Given the description of an element on the screen output the (x, y) to click on. 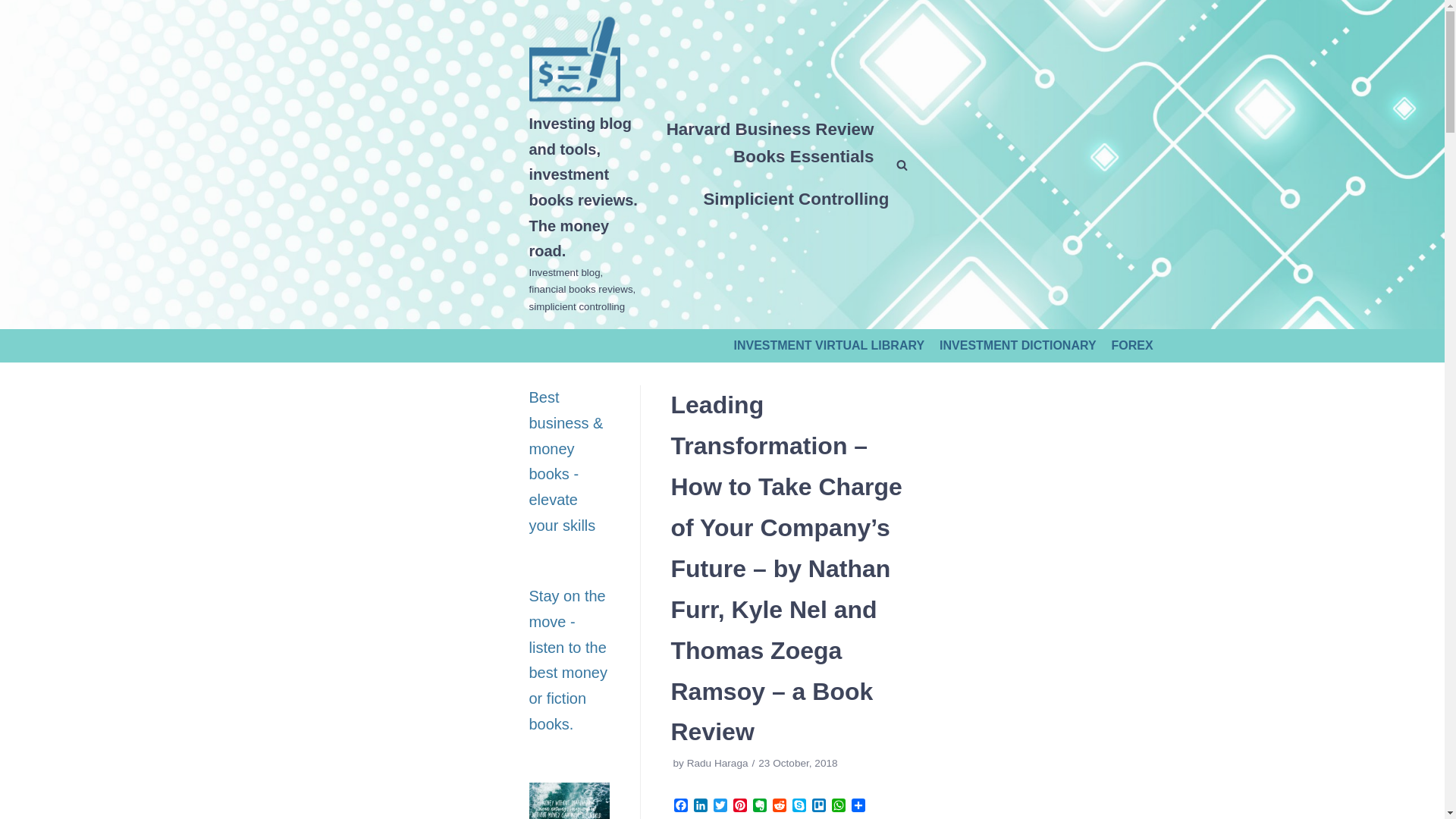
Skip to content (15, 7)
Posts by Radu Haraga (717, 763)
FOREX (1132, 345)
Harvard Business Review Books Essentials (769, 143)
INVESTMENT DICTIONARY (1017, 345)
INVESTMENT VIRTUAL LIBRARY (828, 345)
Simplicient Controlling (795, 198)
